Given the description of an element on the screen output the (x, y) to click on. 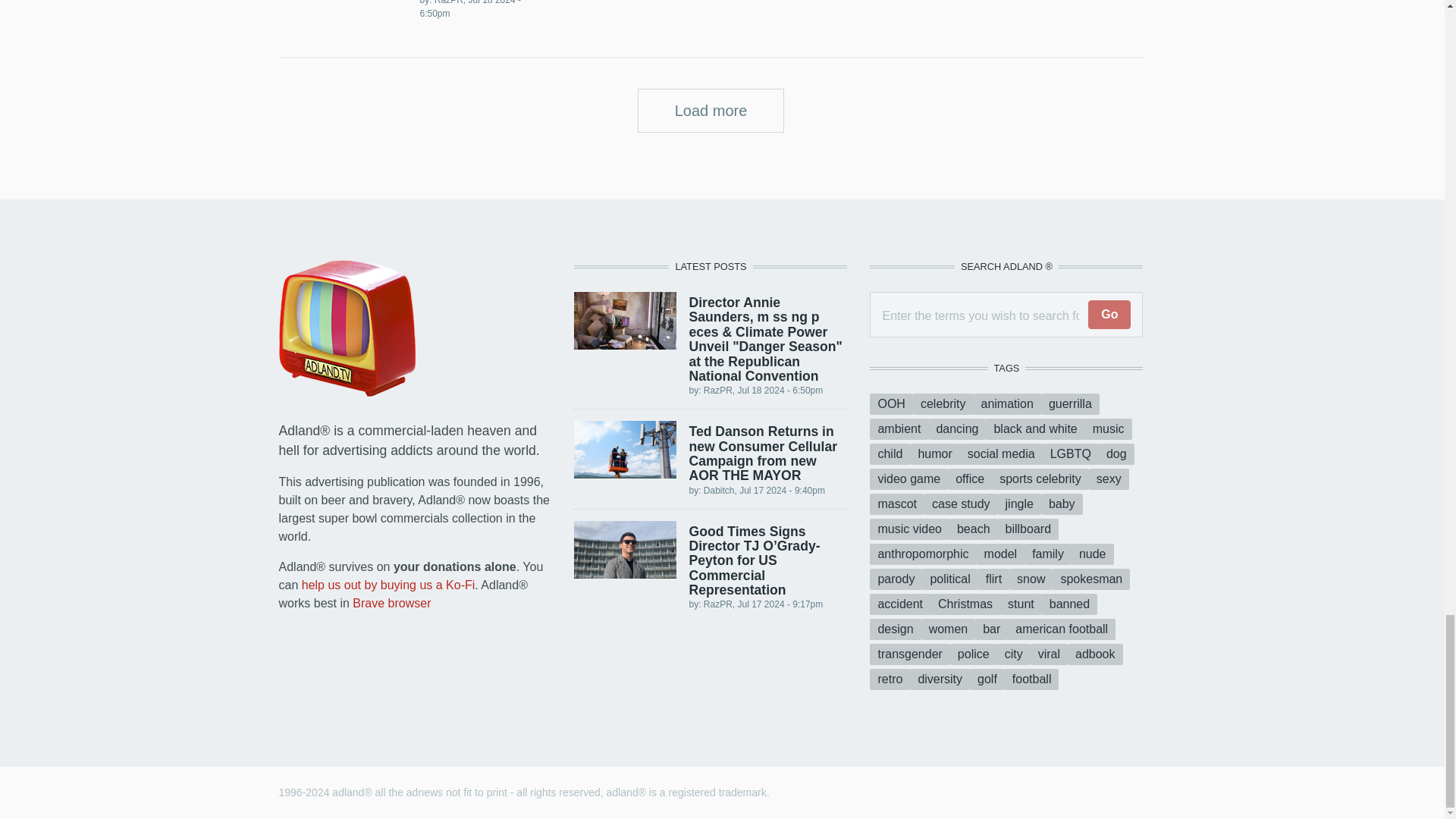
 Go (1109, 314)
